Given the description of an element on the screen output the (x, y) to click on. 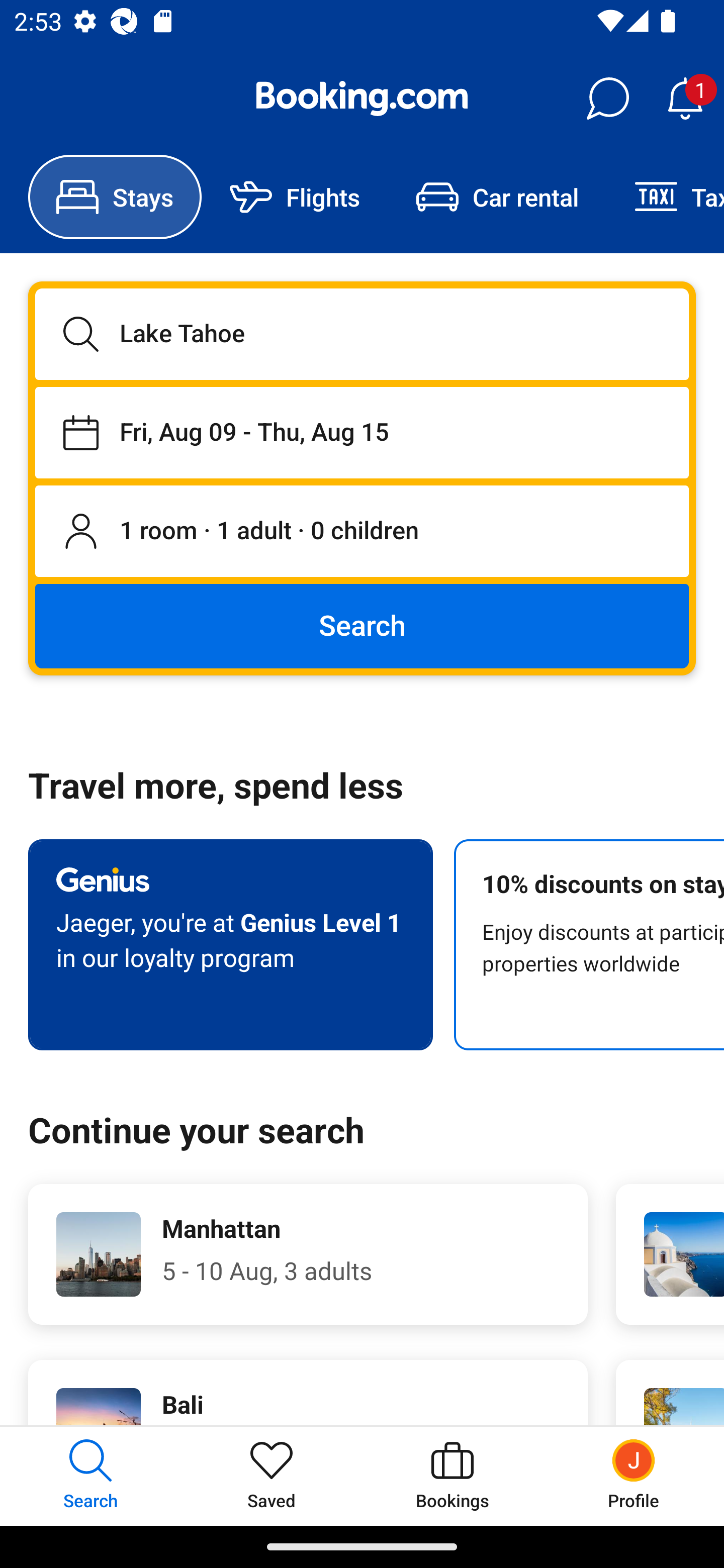
Messages (607, 98)
Notifications (685, 98)
Stays (114, 197)
Flights (294, 197)
Car rental (497, 197)
Taxi (665, 197)
Lake Tahoe (361, 333)
Staying from Fri, Aug 09 until Thu, Aug 15 (361, 432)
1 room, 1 adult, 0 children (361, 531)
Search (361, 625)
Manhattan 5 - 10 Aug, 3 adults (307, 1253)
Saved (271, 1475)
Bookings (452, 1475)
Profile (633, 1475)
